Given the description of an element on the screen output the (x, y) to click on. 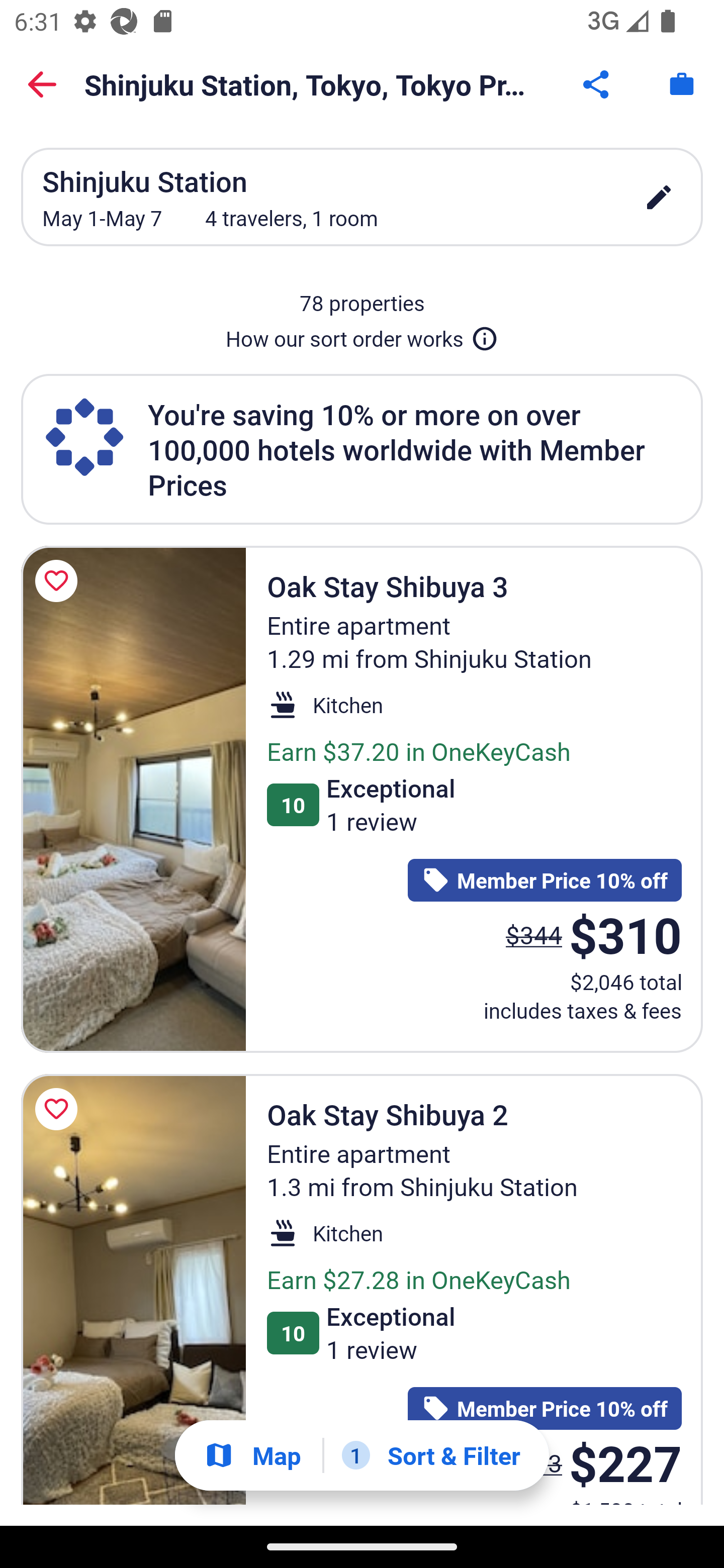
Back (42, 84)
Share Button (597, 84)
Trips. Button (681, 84)
How our sort order works (361, 334)
Save Oak Stay Shibuya 3 to a trip (59, 580)
Oak Stay Shibuya 3 (133, 798)
$344 The price was $344 (533, 934)
Save Oak Stay Shibuya 2 to a trip (59, 1108)
Oak Stay Shibuya 2 (133, 1289)
1 Sort & Filter 1 Filter applied. Filters Button (430, 1455)
Show map Map Show map Button (252, 1455)
